Given the description of an element on the screen output the (x, y) to click on. 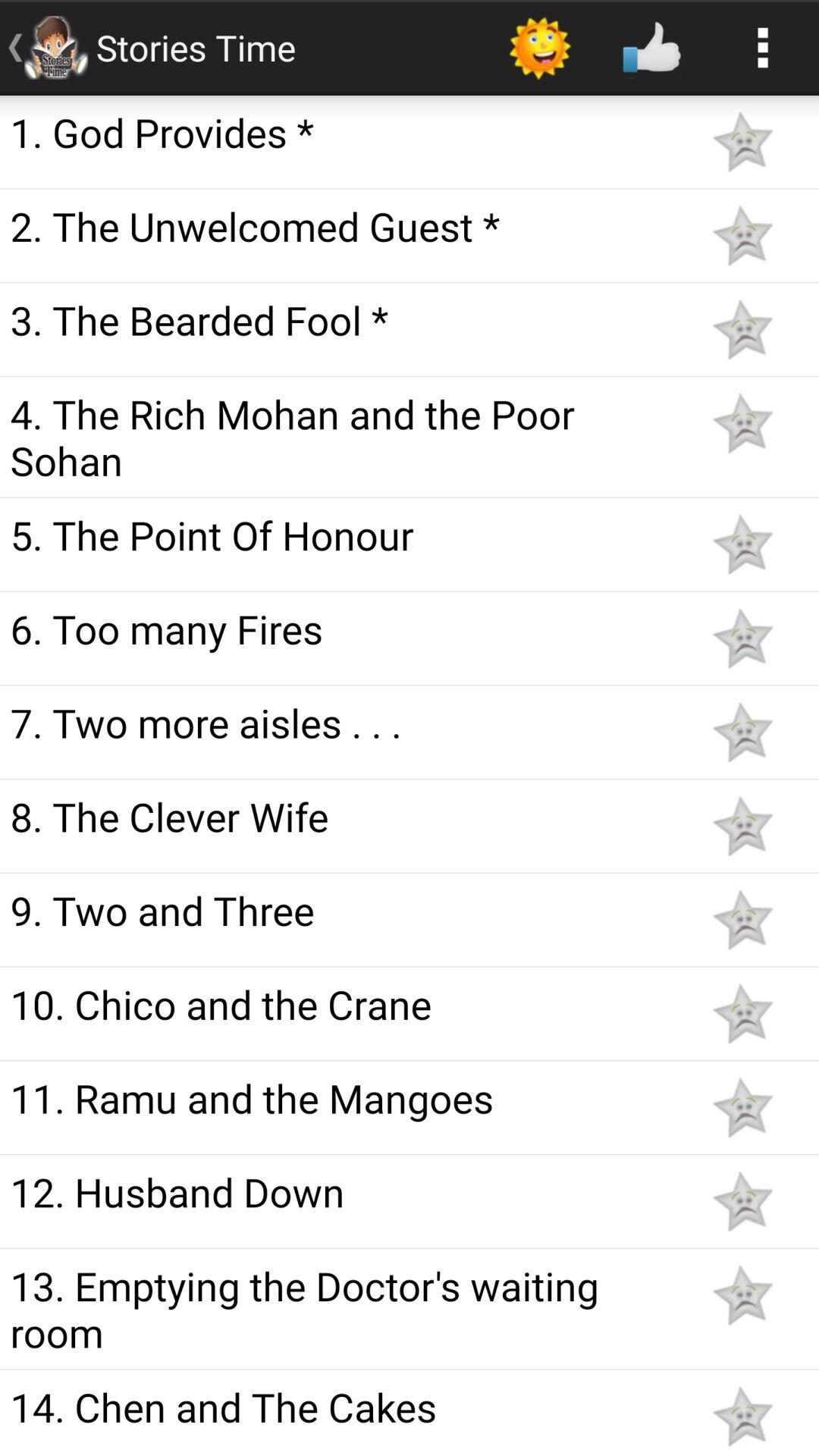
stare favorite (742, 1201)
